Given the description of an element on the screen output the (x, y) to click on. 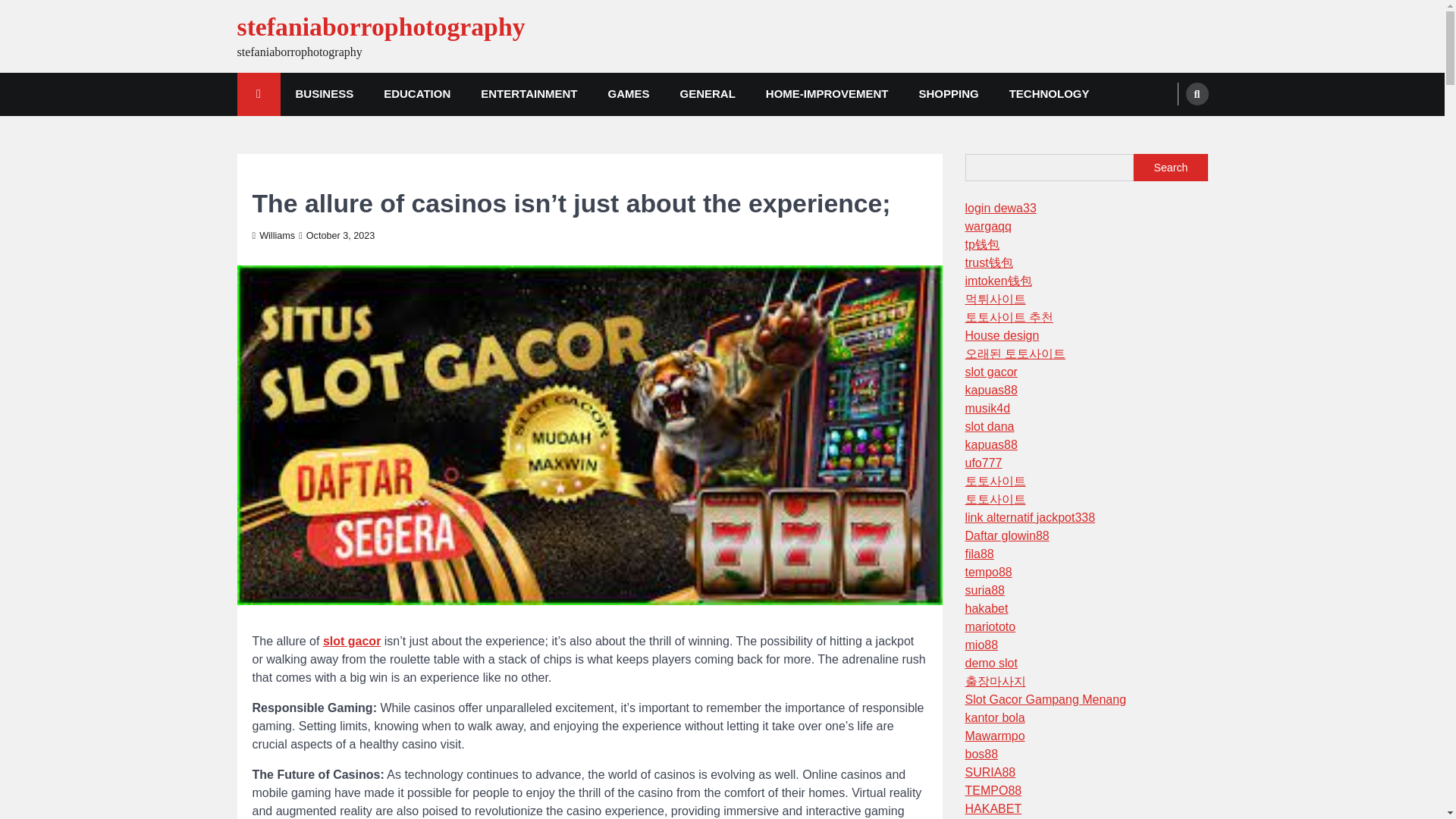
kapuas88 (989, 390)
login dewa33 (999, 207)
HOME-IMPROVEMENT (827, 94)
slot dana (988, 426)
GENERAL (706, 94)
stefaniaborrophotography (379, 26)
GAMES (627, 94)
SHOPPING (949, 94)
Williams (273, 235)
Search (1197, 93)
slot gacor (989, 371)
musik4d (986, 408)
Search (1168, 129)
slot gacor (351, 640)
TECHNOLOGY (1049, 94)
